Given the description of an element on the screen output the (x, y) to click on. 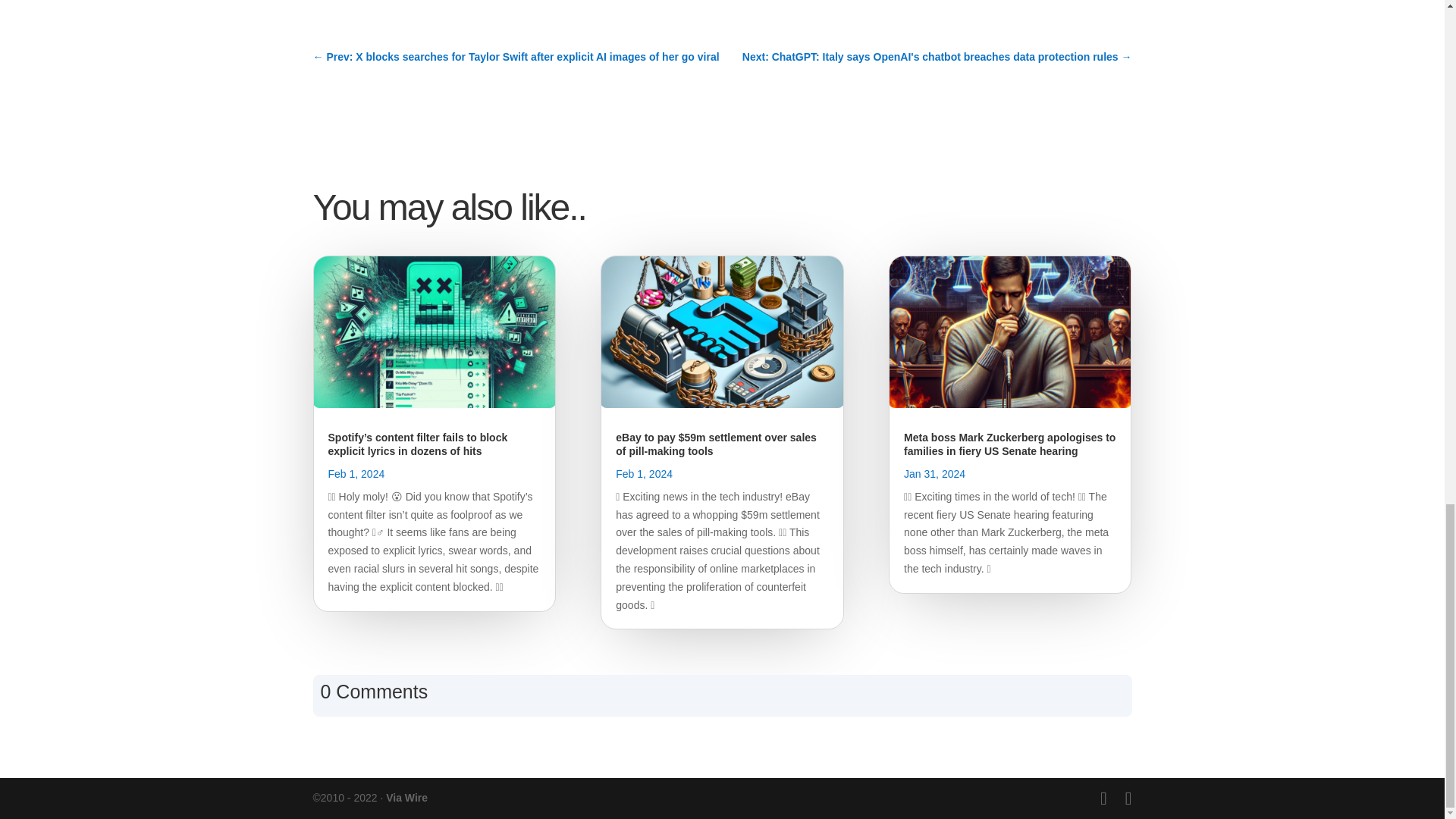
Via Wire (406, 797)
